Given the description of an element on the screen output the (x, y) to click on. 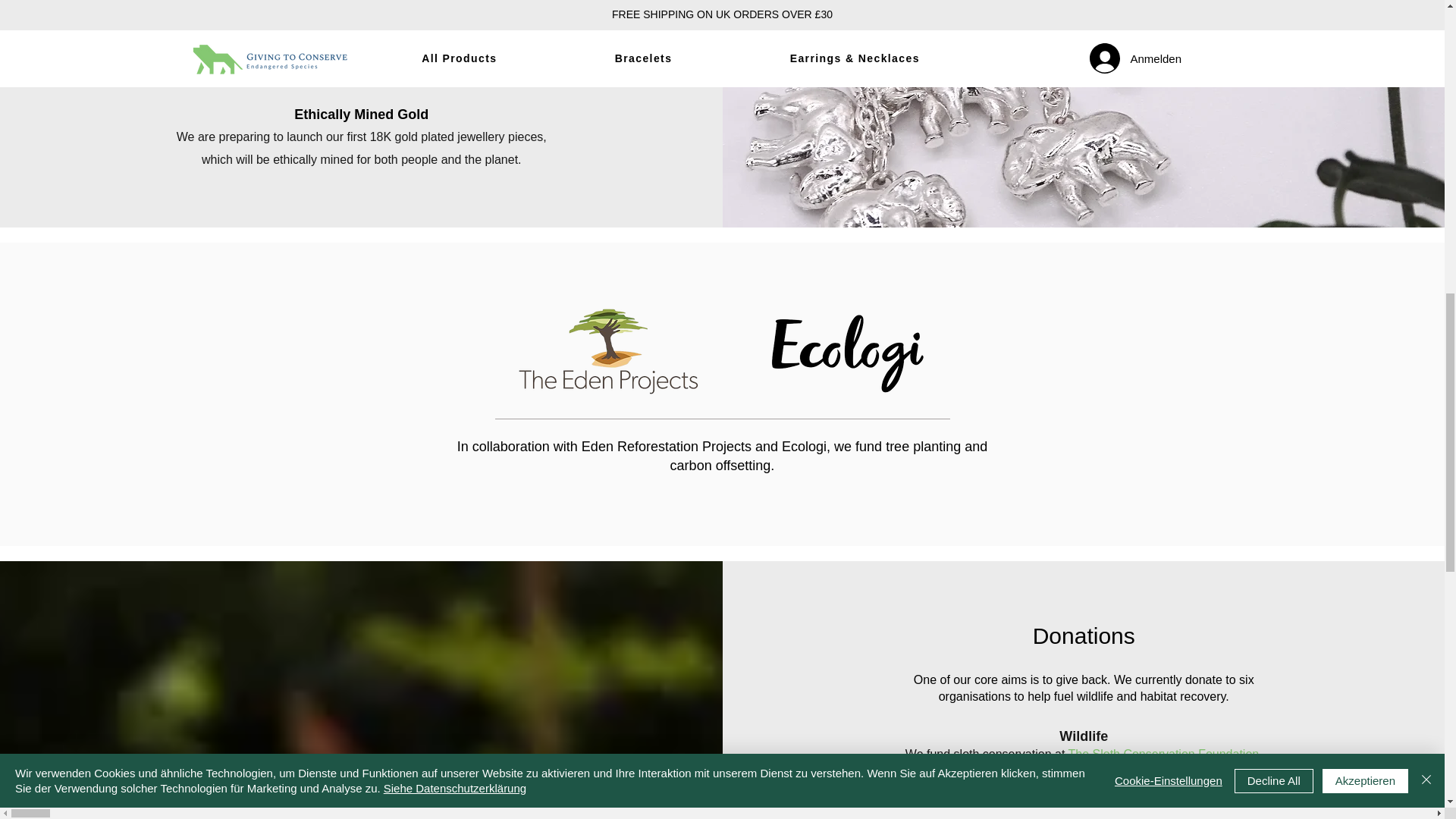
Eden Reforestation Projects (665, 446)
Lewa Wildlife Conservancy (1131, 770)
The Wildlife Trusts (1080, 796)
The Sloth Conservation Foundation (1163, 753)
Oceanic Society (1019, 788)
Ecologi (804, 446)
